Given the description of an element on the screen output the (x, y) to click on. 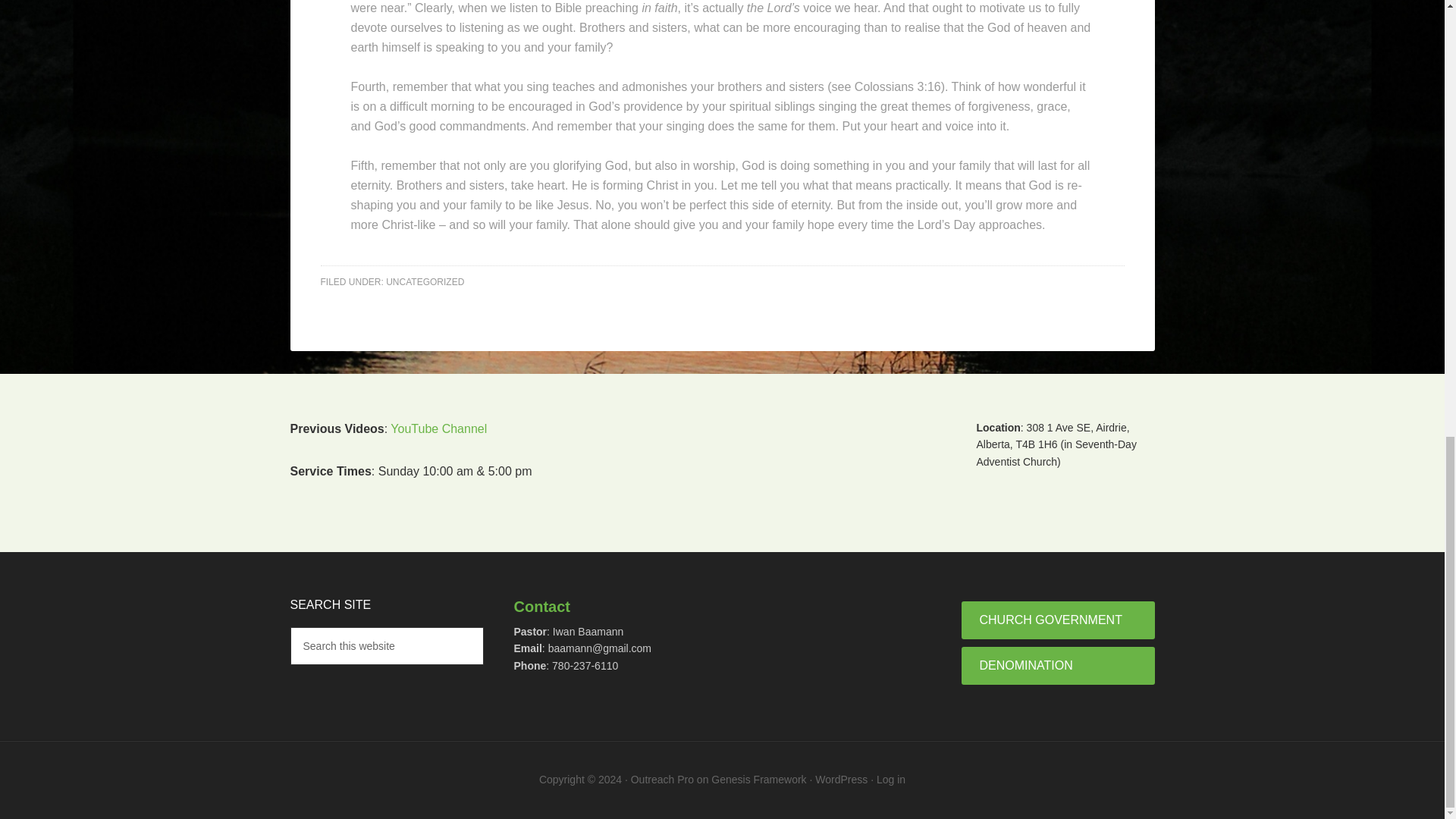
WordPress (841, 779)
UNCATEGORIZED (424, 281)
YouTube Channel (438, 428)
Contact (541, 606)
CHURCH GOVERNMENT (1057, 620)
Genesis Framework (758, 779)
Log in (890, 779)
